Given the description of an element on the screen output the (x, y) to click on. 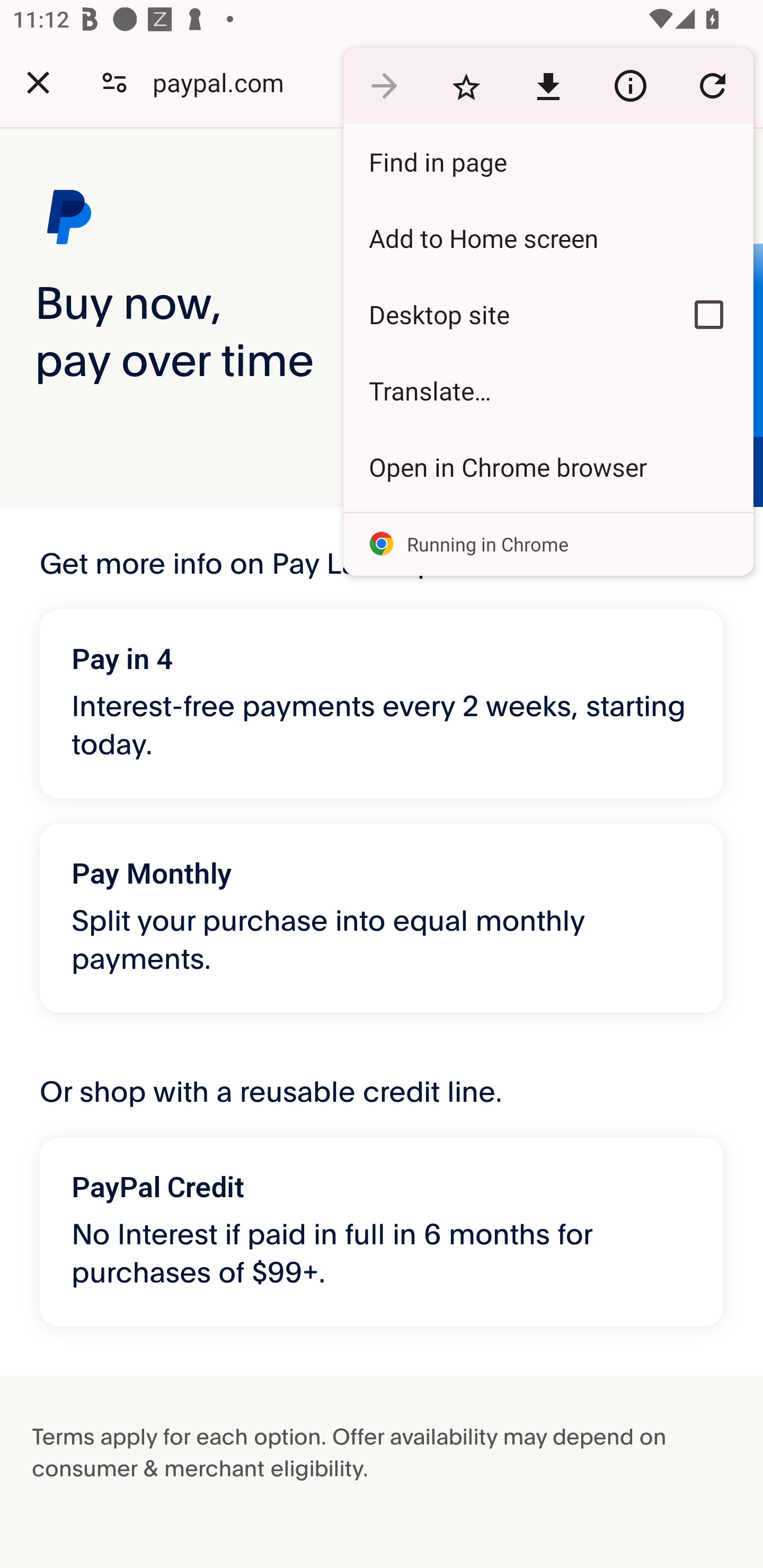
Go forward (383, 85)
Bookmark (465, 85)
Download this page (548, 85)
View site information (630, 85)
Refresh (712, 85)
Find in page (548, 161)
Add to Home screen (548, 237)
Desktop site Turn on Request desktop site (503, 313)
Translate… (548, 390)
Open in Chrome browser (548, 466)
